Given the description of an element on the screen output the (x, y) to click on. 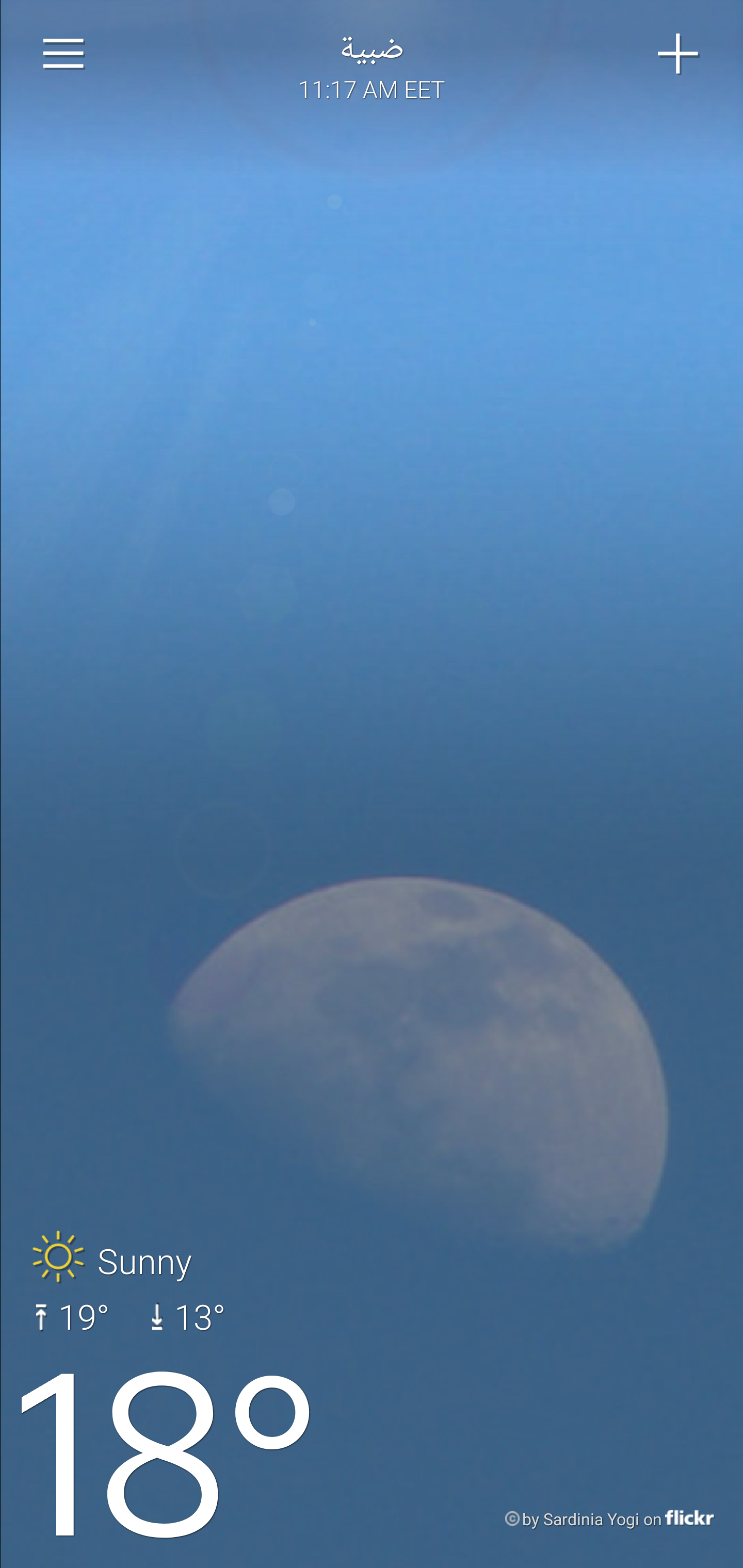
Sidebar (64, 54)
Add City (678, 53)
